Given the description of an element on the screen output the (x, y) to click on. 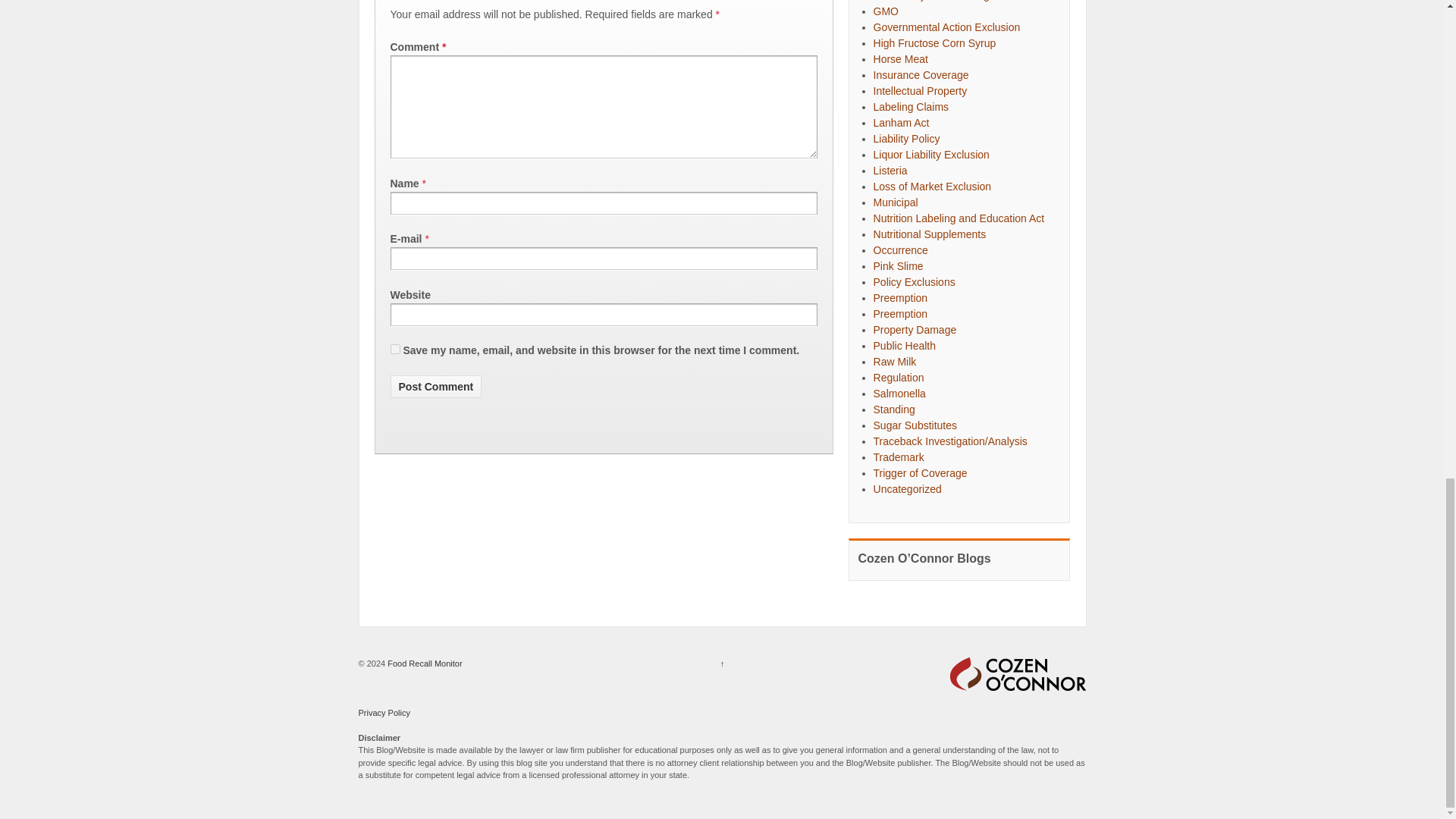
yes (394, 348)
Post Comment (435, 386)
Food Recall Monitor (424, 663)
Post Comment (435, 386)
